Given the description of an element on the screen output the (x, y) to click on. 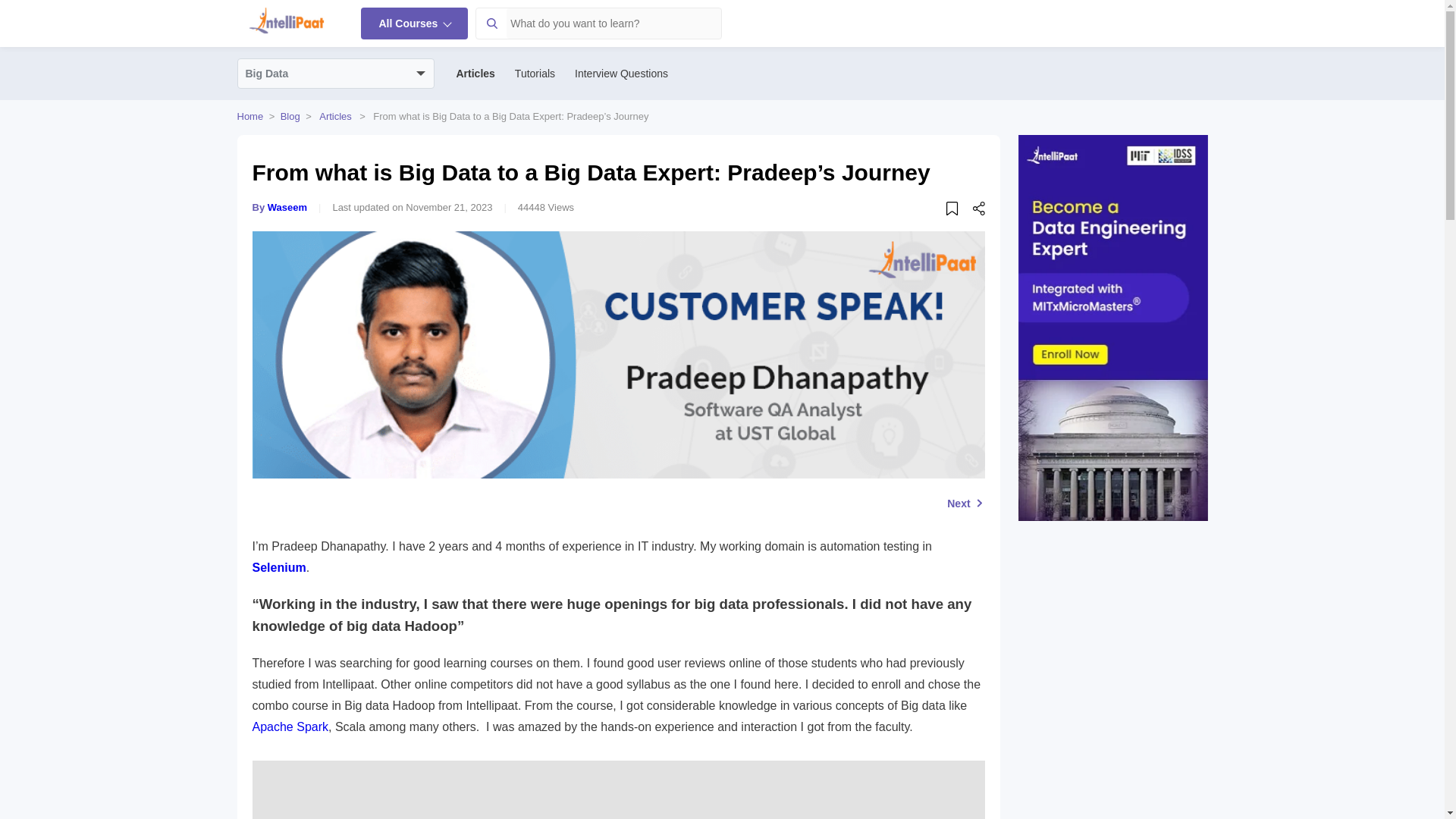
Selenium (278, 567)
Blog (290, 116)
share (978, 211)
Apache Spark (290, 726)
Waseem (287, 206)
Home (249, 116)
bookmark (953, 211)
Next (965, 503)
